Given the description of an element on the screen output the (x, y) to click on. 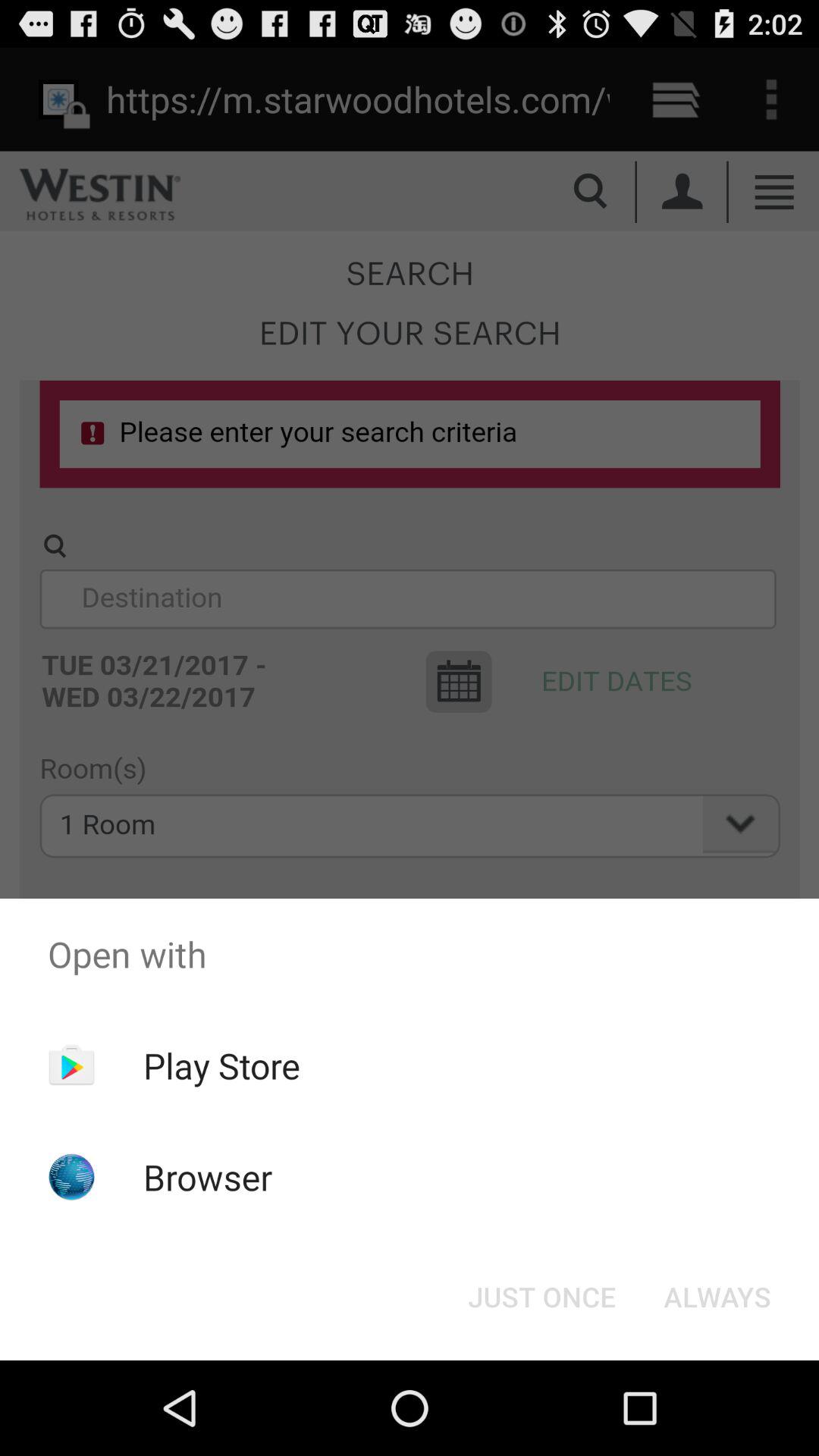
tap the always at the bottom right corner (717, 1296)
